Given the description of an element on the screen output the (x, y) to click on. 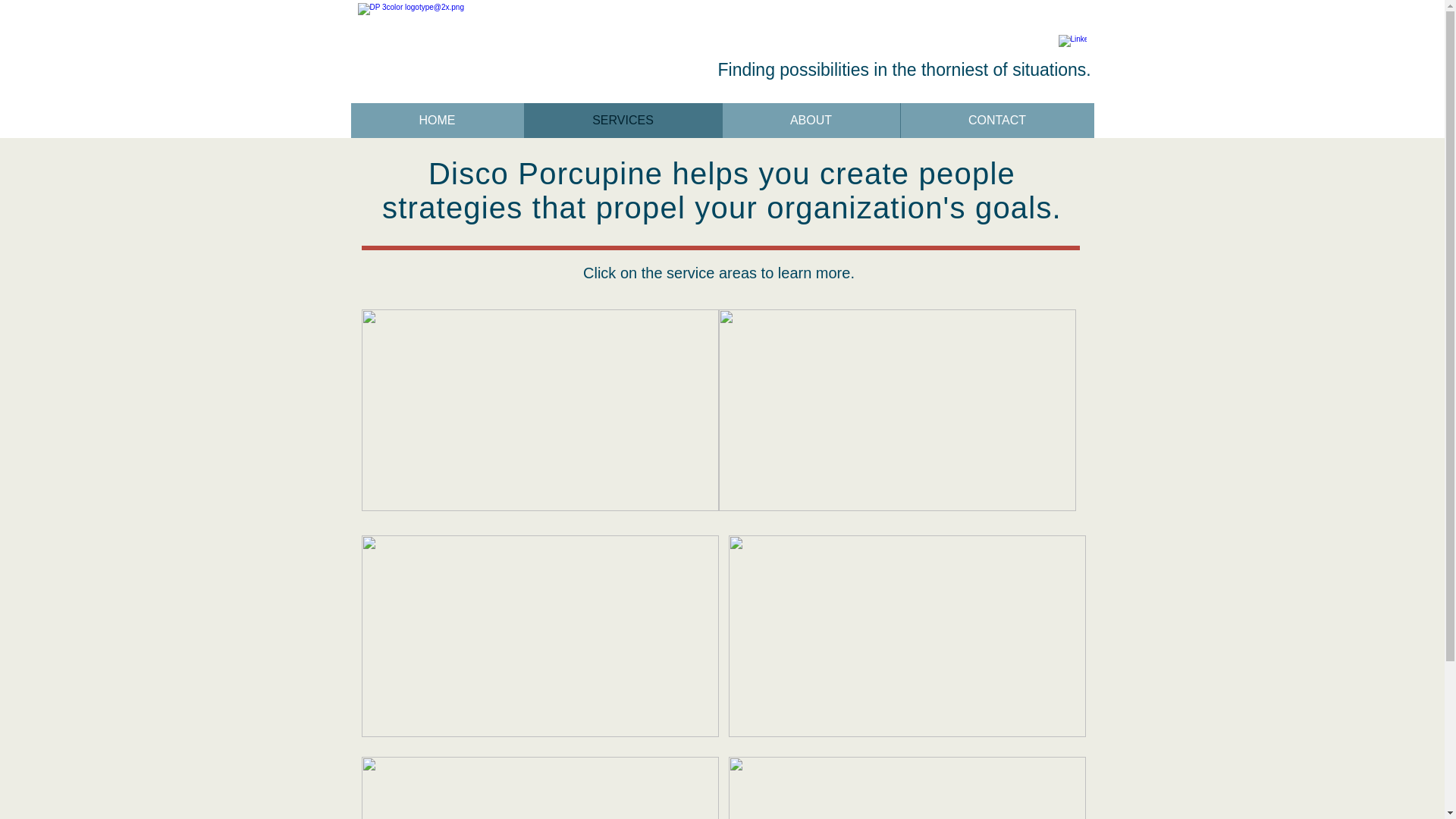
SERVICES (621, 120)
FINAL Service Tab Icons - HR Modernization.png (906, 636)
HOME (436, 120)
Copy of Service Tab Icons - Performance Management.png (906, 787)
FINAL Service Tab Icons - Talent Management.png (539, 787)
CONTACT (996, 120)
ABOUT (810, 120)
FINAL Service Tab Icons - Integrated People Strategy.png (539, 410)
FINAL Service Tab Icons - Culture.png (897, 410)
Copy of FINAL Service Tab Icons - Culture.png (539, 636)
